Given the description of an element on the screen output the (x, y) to click on. 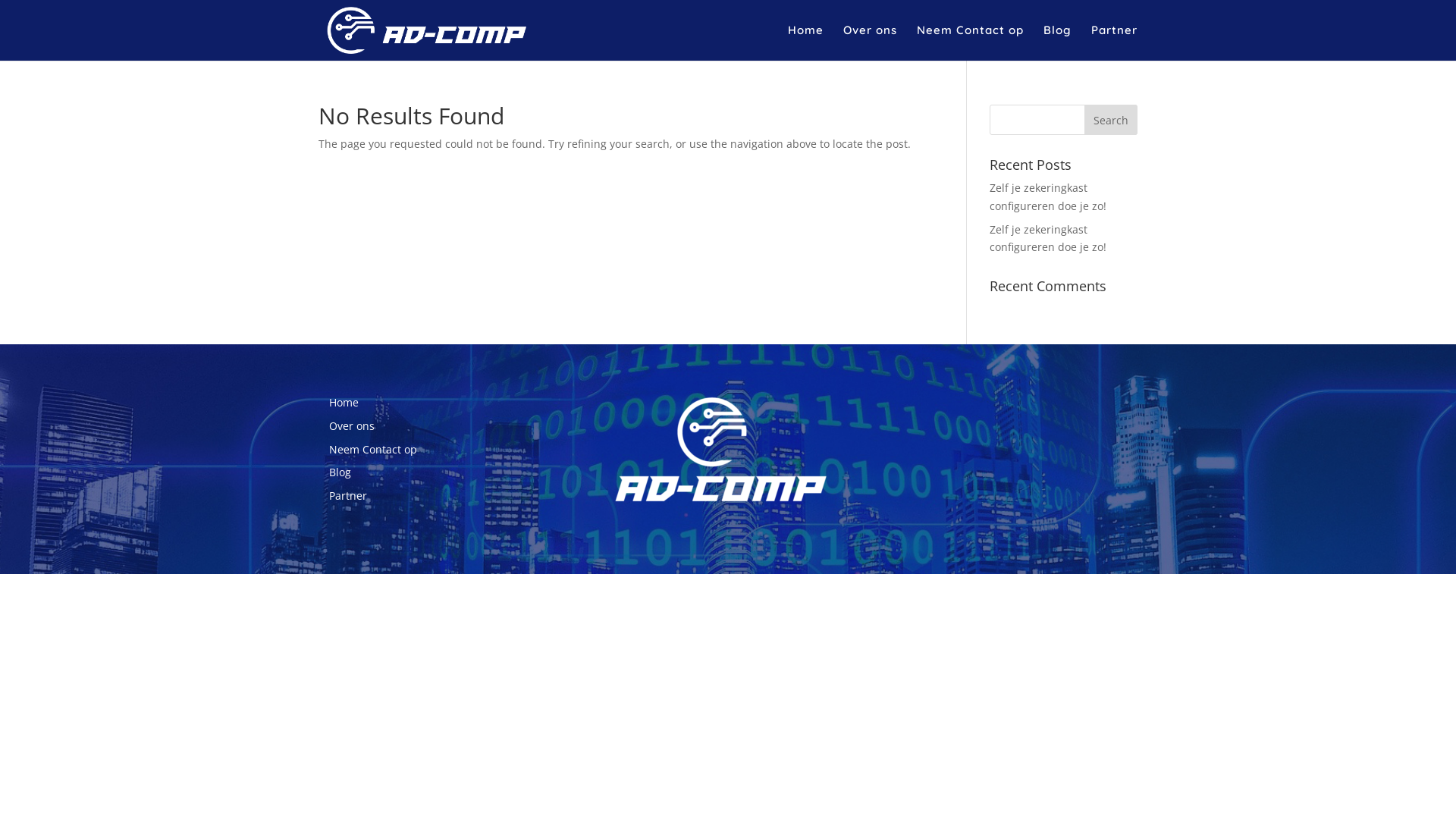
Partner Element type: text (348, 495)
Blog Element type: text (340, 471)
Search Element type: text (1110, 119)
Neem Contact op Element type: text (969, 42)
Home Element type: text (805, 42)
Zelf je zekeringkast configureren doe je zo! Element type: text (1047, 196)
Zelf je zekeringkast configureren doe je zo! Element type: text (1047, 238)
Over ons Element type: text (351, 425)
Neem Contact op Element type: text (373, 449)
Partner Element type: text (1114, 42)
Home Element type: text (343, 402)
Over ons Element type: text (870, 42)
Blog Element type: text (1057, 42)
